Given the description of an element on the screen output the (x, y) to click on. 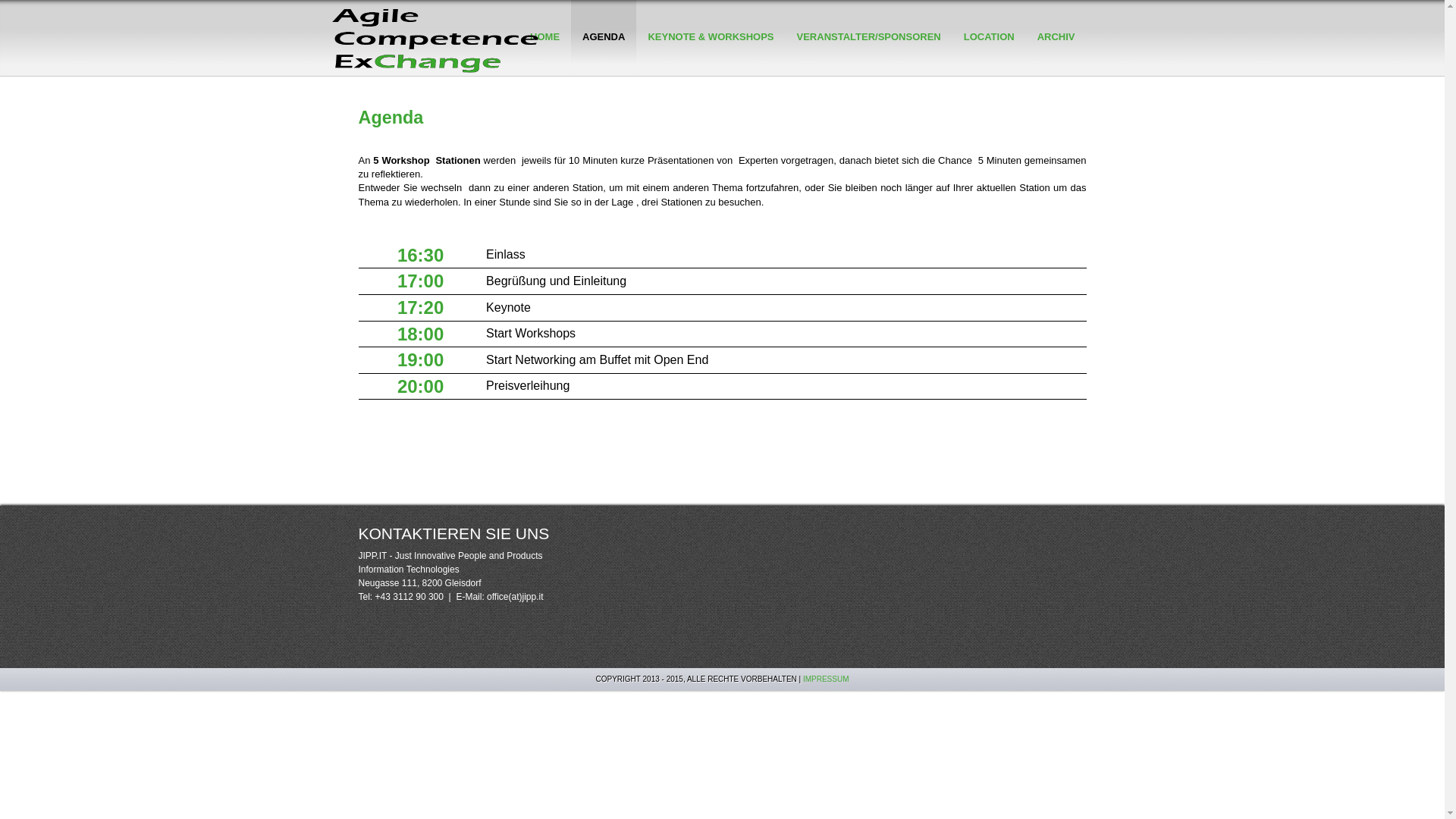
IMPRESSUM Element type: text (826, 678)
KEYNOTE & WORKSHOPS Element type: text (710, 62)
HOME Element type: text (544, 62)
ARCHIV Element type: text (1056, 62)
Go to AGILECOMPETENCEEXCHANGE Element type: hover (441, 39)
LOCATION Element type: text (989, 62)
office(at)jipp.it Element type: text (514, 596)
VERANSTALTER/SPONSOREN Element type: text (868, 62)
+43 3112 90 300 Element type: text (409, 596)
AGENDA Element type: text (603, 62)
